Given the description of an element on the screen output the (x, y) to click on. 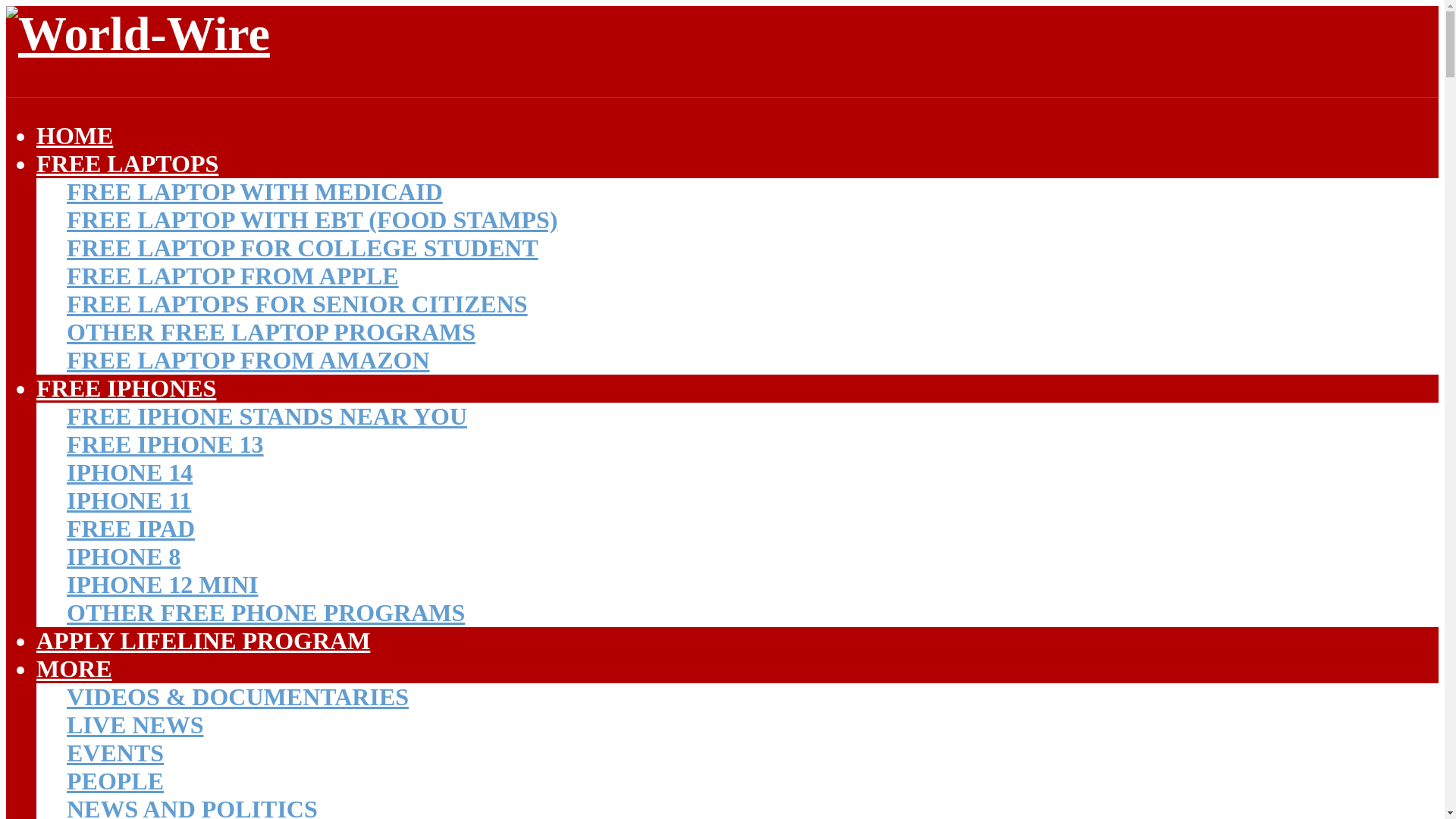
FREE LAPTOP FOR COLLEGE STUDENT (302, 247)
OTHER FREE LAPTOP PROGRAMS (271, 331)
IPHONE 8 (123, 556)
APPLY LIFELINE PROGRAM (202, 640)
FREE LAPTOP FROM AMAZON (247, 359)
IPHONE 14 (129, 472)
LIVE NEWS (134, 724)
FREE IPHONES (125, 388)
IPHONE 12 MINI (161, 584)
OTHER FREE PHONE PROGRAMS (265, 612)
